Given the description of an element on the screen output the (x, y) to click on. 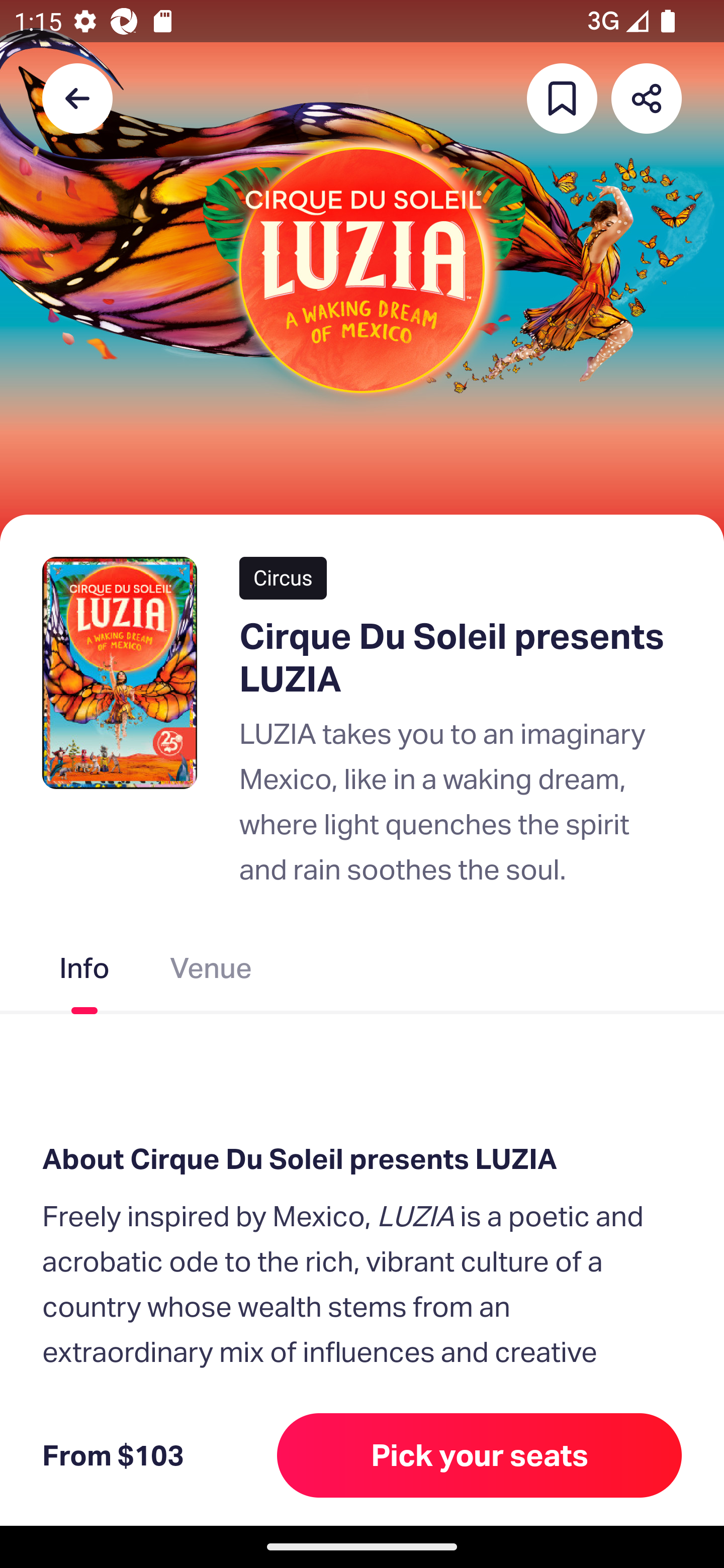
Venue (210, 971)
About Cirque Du Soleil presents LUZIA (361, 1159)
Pick your seats (479, 1454)
Read more (109, 1449)
